Given the description of an element on the screen output the (x, y) to click on. 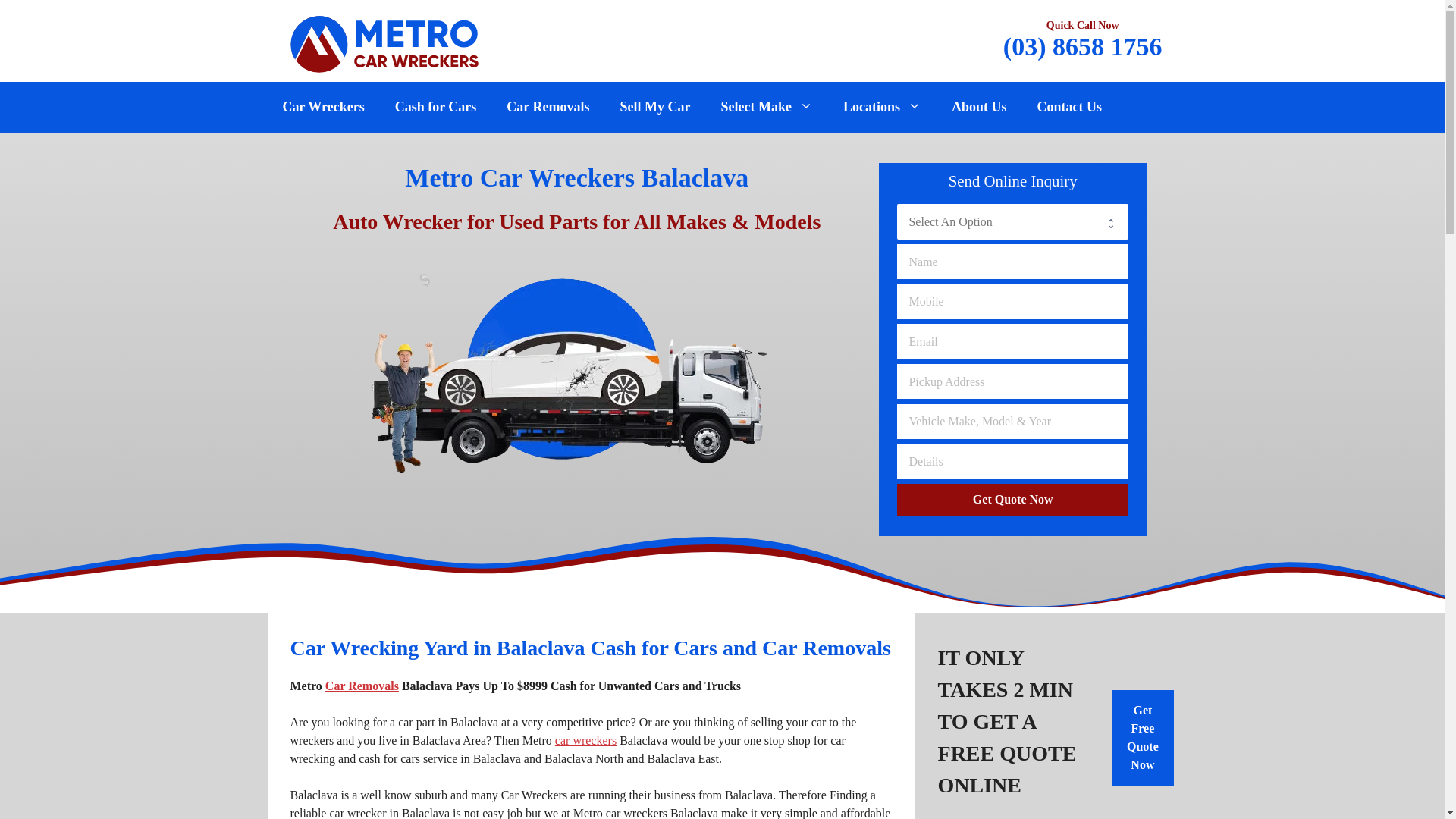
Contact Us Element type: text (1069, 107)
Sell My Car Element type: text (654, 107)
(03) 8658 1756 Element type: text (1082, 46)
About Us Element type: text (979, 107)
Metro Car Wreckers Element type: hover (384, 43)
Select Make Element type: text (766, 107)
Car Wreckers Element type: text (322, 107)
Cash for Cars Element type: text (435, 107)
Metro Car Wreckers Element type: hover (384, 41)
Get Quote Now Element type: text (1012, 499)
Car Removals Element type: text (547, 107)
Get Free Quote Now Element type: text (1142, 737)
car wreckers Element type: text (585, 740)
Locations Element type: text (882, 107)
Car Removals Element type: text (361, 685)
